Given the description of an element on the screen output the (x, y) to click on. 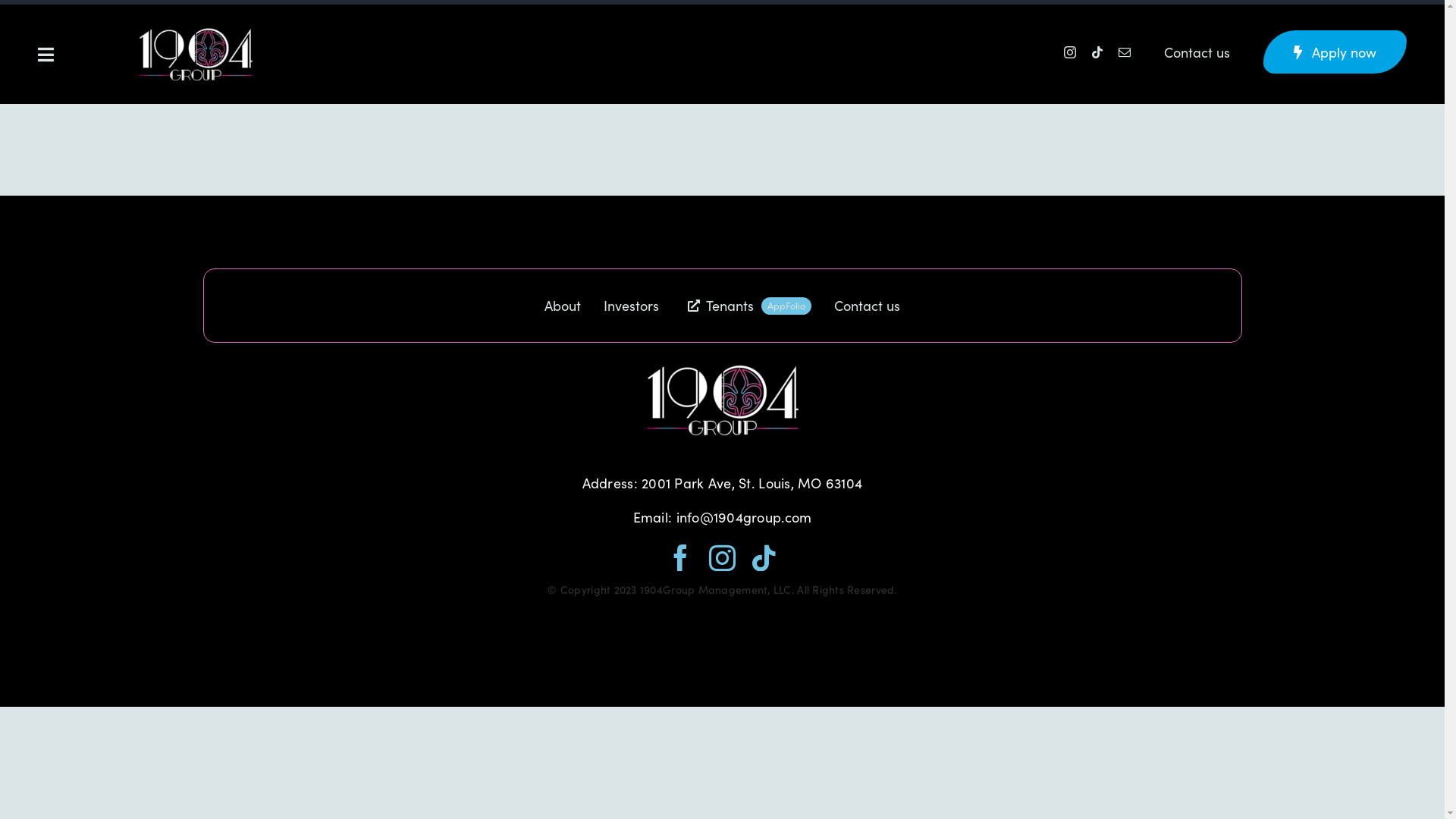
Contact us Element type: text (867, 305)
Apply now Element type: text (1334, 52)
Tenants
AppFolio Element type: text (745, 305)
Contact us Element type: text (1196, 52)
Investors Element type: text (630, 305)
About Element type: text (562, 305)
